Given the description of an element on the screen output the (x, y) to click on. 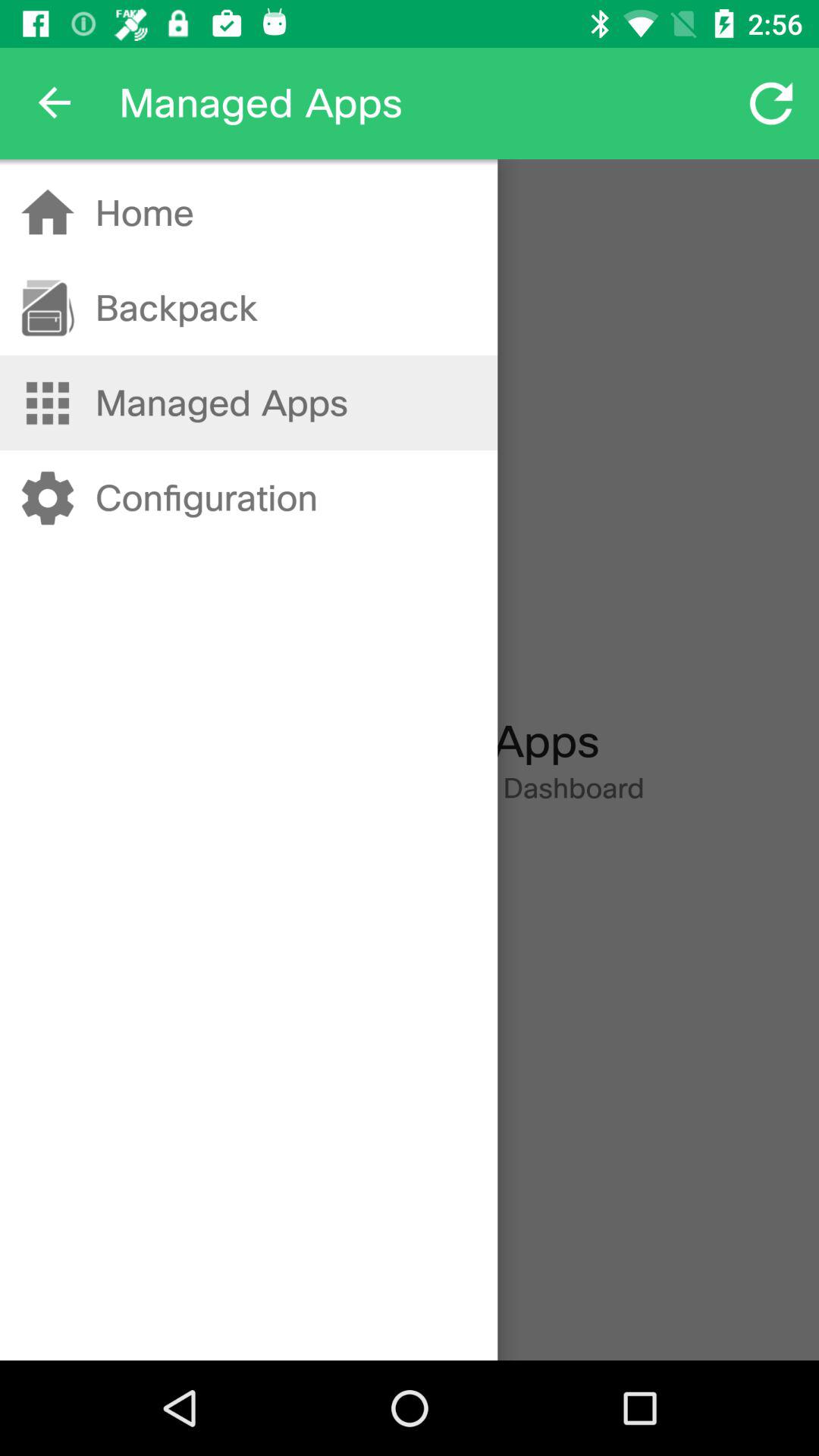
tap home item (144, 212)
